Given the description of an element on the screen output the (x, y) to click on. 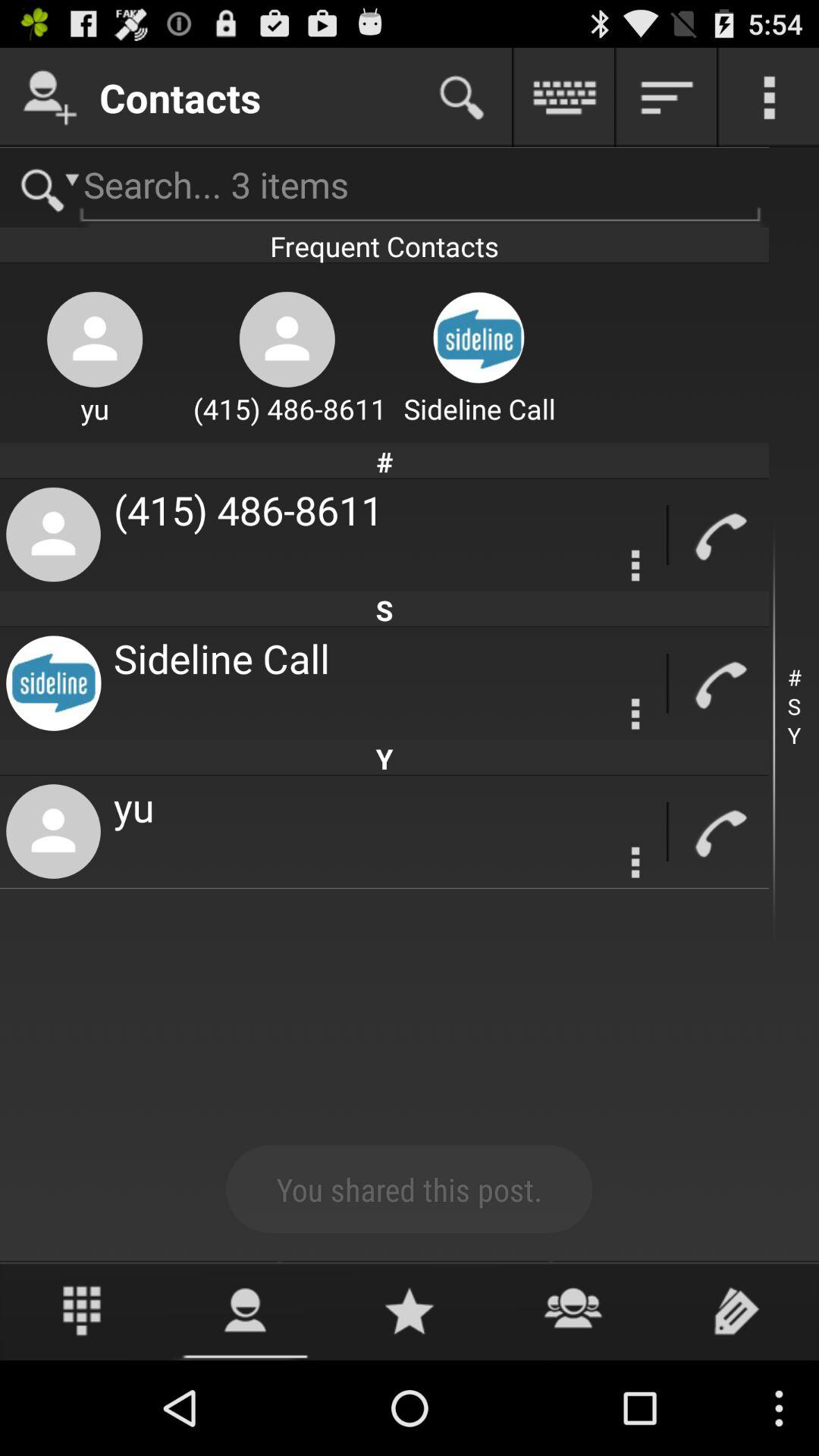
setting (635, 565)
